Given the description of an element on the screen output the (x, y) to click on. 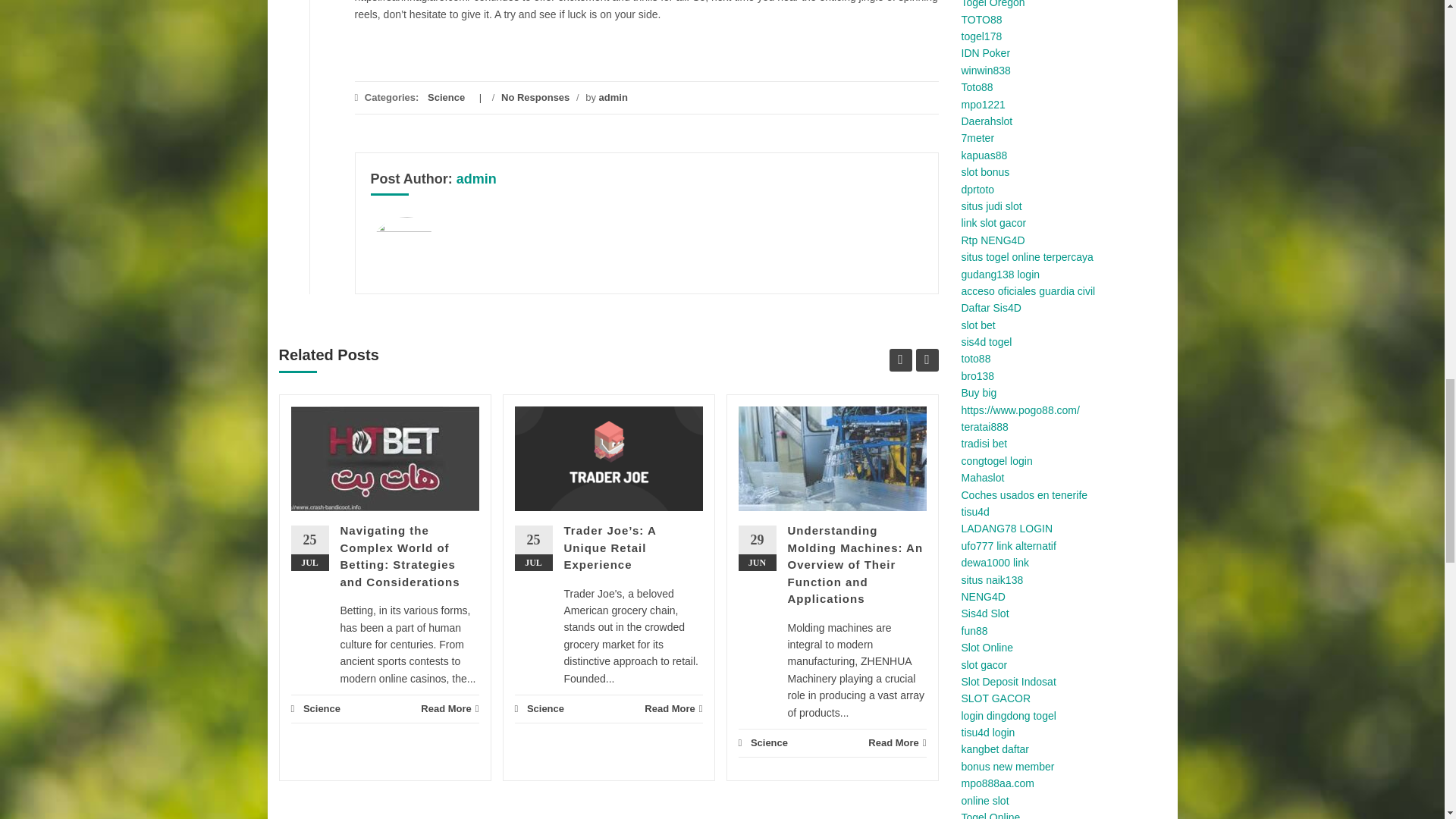
admin (476, 178)
Science (321, 708)
Read More (449, 708)
admin (612, 97)
Science (446, 97)
No Responses (534, 97)
